Given the description of an element on the screen output the (x, y) to click on. 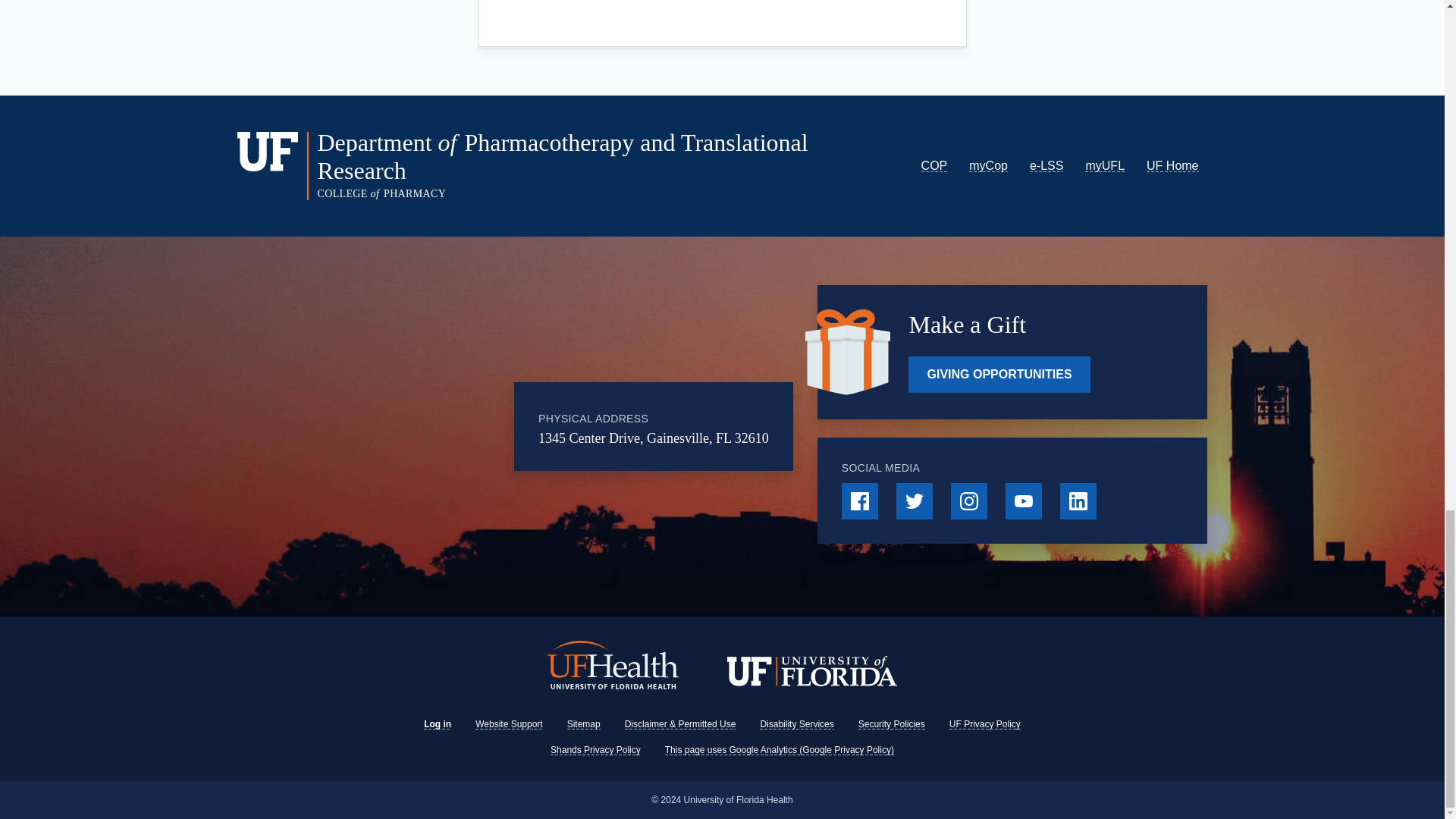
Security Policies (891, 724)
COP (934, 164)
Log in (437, 724)
UF Privacy Policy (984, 724)
Disability Services (796, 724)
myCop (988, 164)
Website Support (509, 724)
Shands Privacy Policy (595, 749)
Google Maps Embed (423, 426)
Sitemap (583, 724)
